Given the description of an element on the screen output the (x, y) to click on. 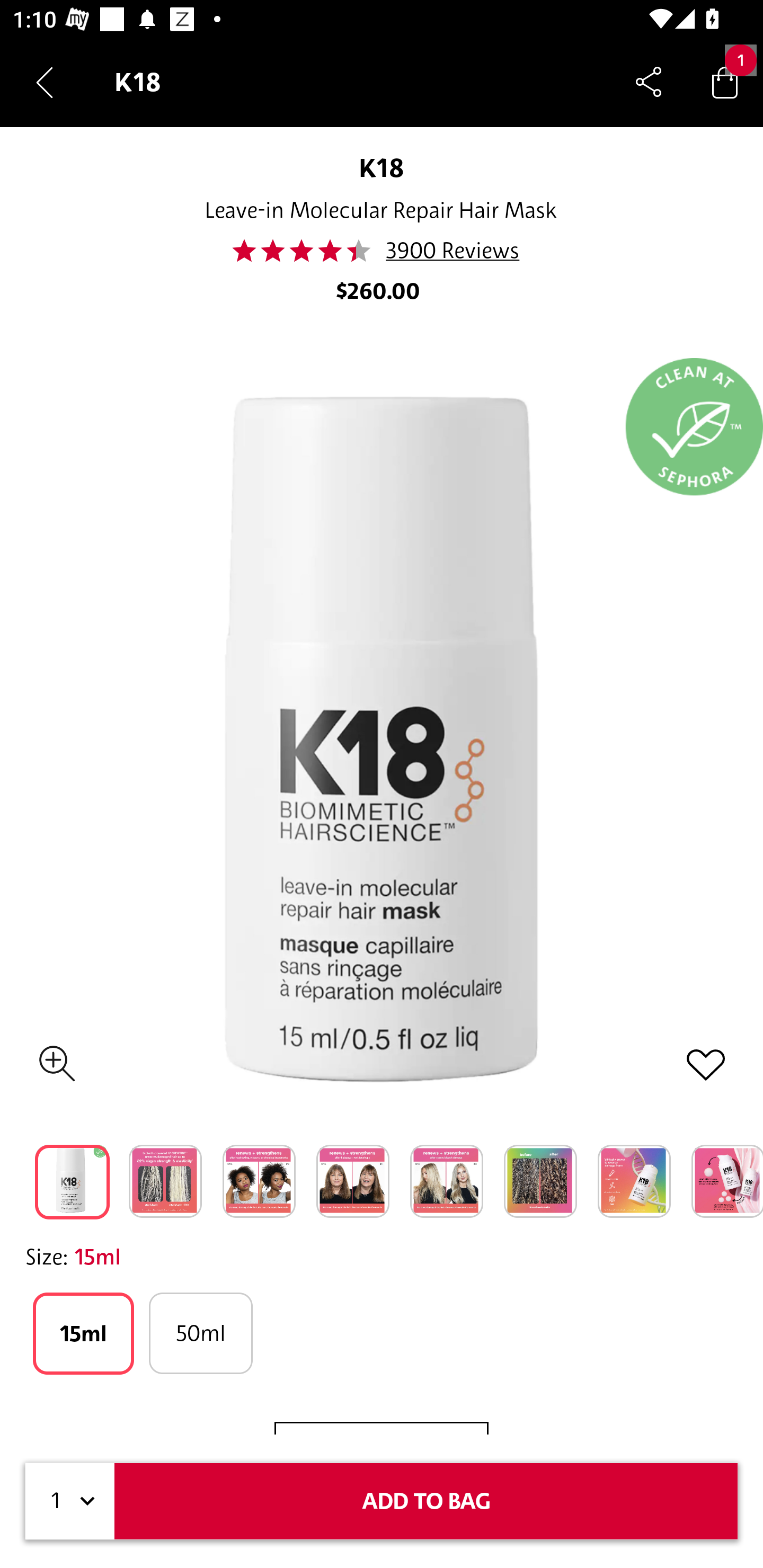
Navigate up (44, 82)
Share (648, 81)
Bag (724, 81)
K18 (381, 167)
44.0 3900 Reviews (380, 250)
15ml (83, 1333)
50ml (200, 1332)
1 (69, 1500)
ADD TO BAG (425, 1500)
